Given the description of an element on the screen output the (x, y) to click on. 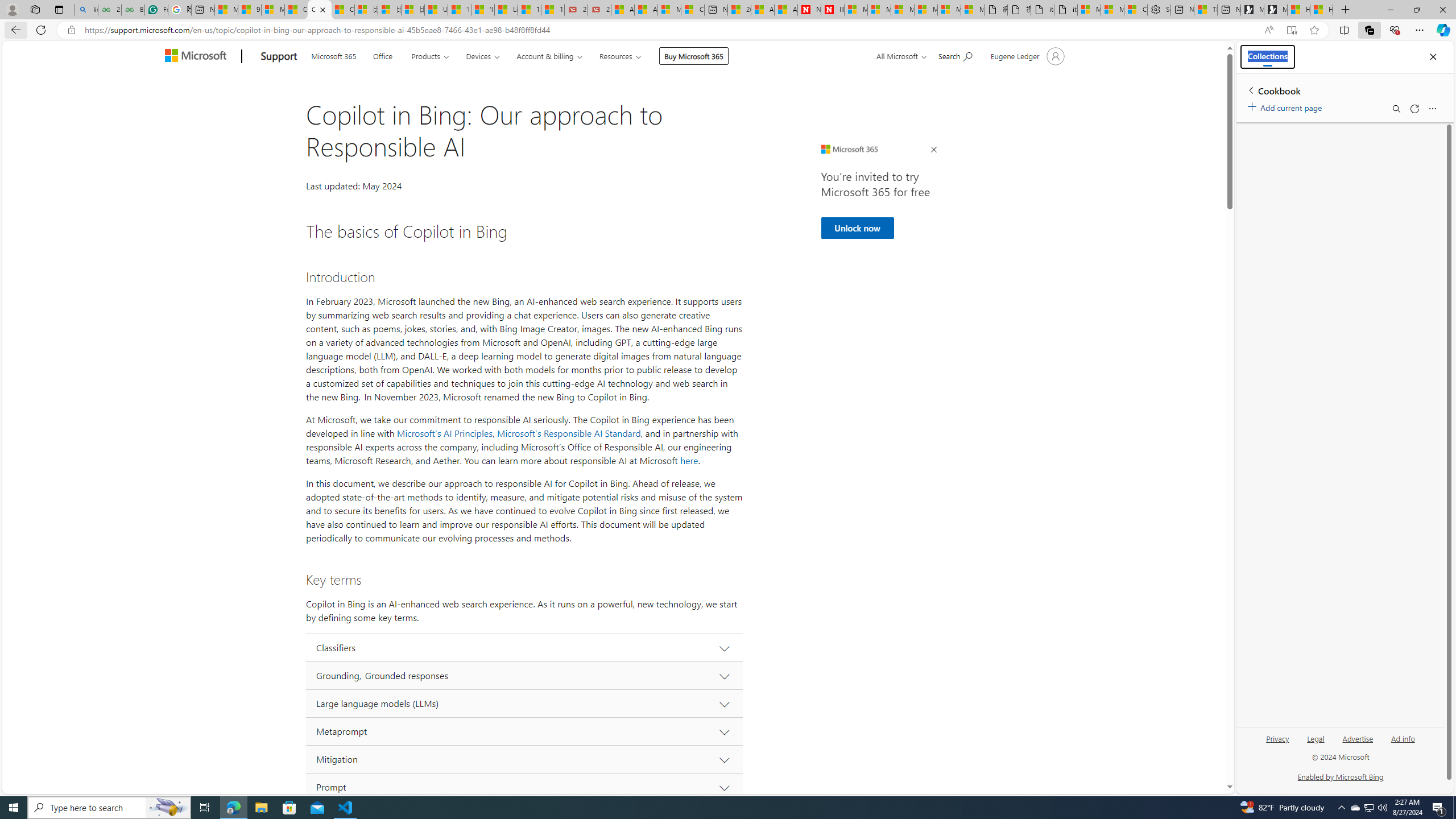
Buy Microsoft 365 (693, 55)
Legal (1315, 738)
Ad info (1402, 742)
Buy Microsoft 365 (693, 55)
